Given the description of an element on the screen output the (x, y) to click on. 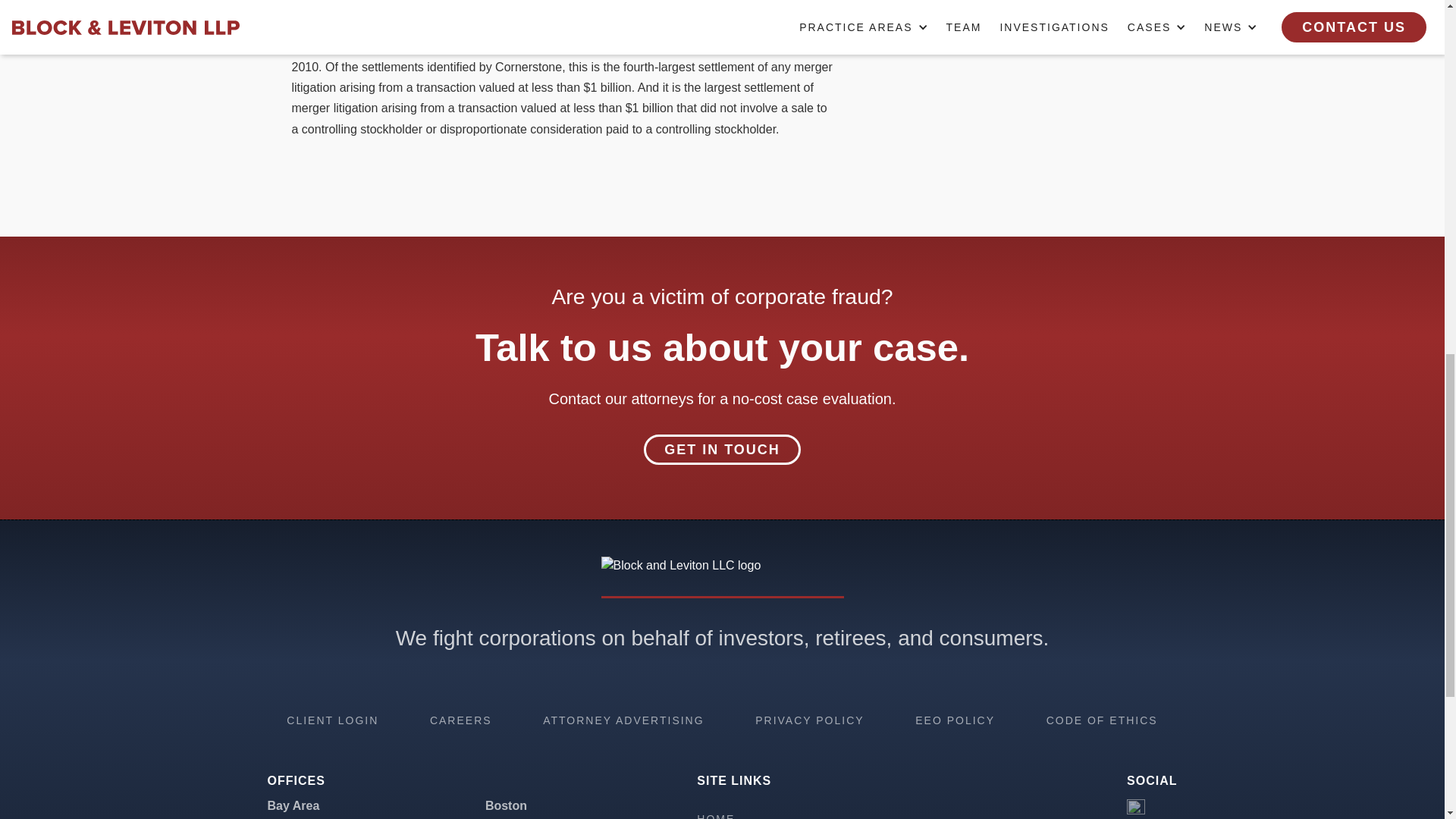
PRIVACY POLICY (809, 720)
CAREERS (460, 720)
CLIENT LOGIN (332, 720)
HOME (716, 816)
ATTORNEY ADVERTISING (623, 720)
EEO POLICY (954, 720)
LinkedIn (1135, 808)
CODE OF ETHICS (1101, 720)
GET IN TOUCH (721, 449)
